Given the description of an element on the screen output the (x, y) to click on. 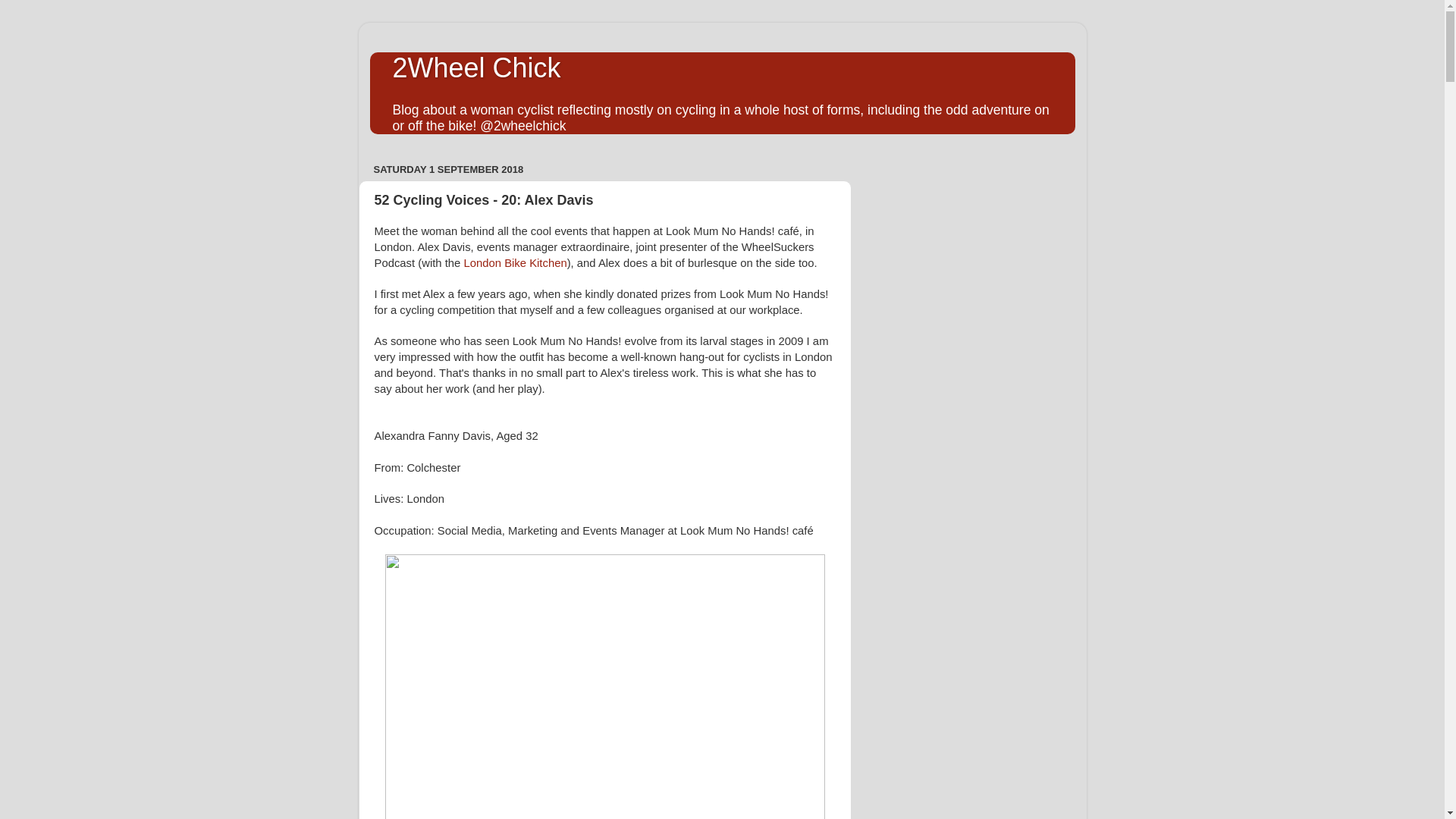
London Bike Kitchen Element type: text (514, 263)
2Wheel Chick Element type: text (476, 67)
